Given the description of an element on the screen output the (x, y) to click on. 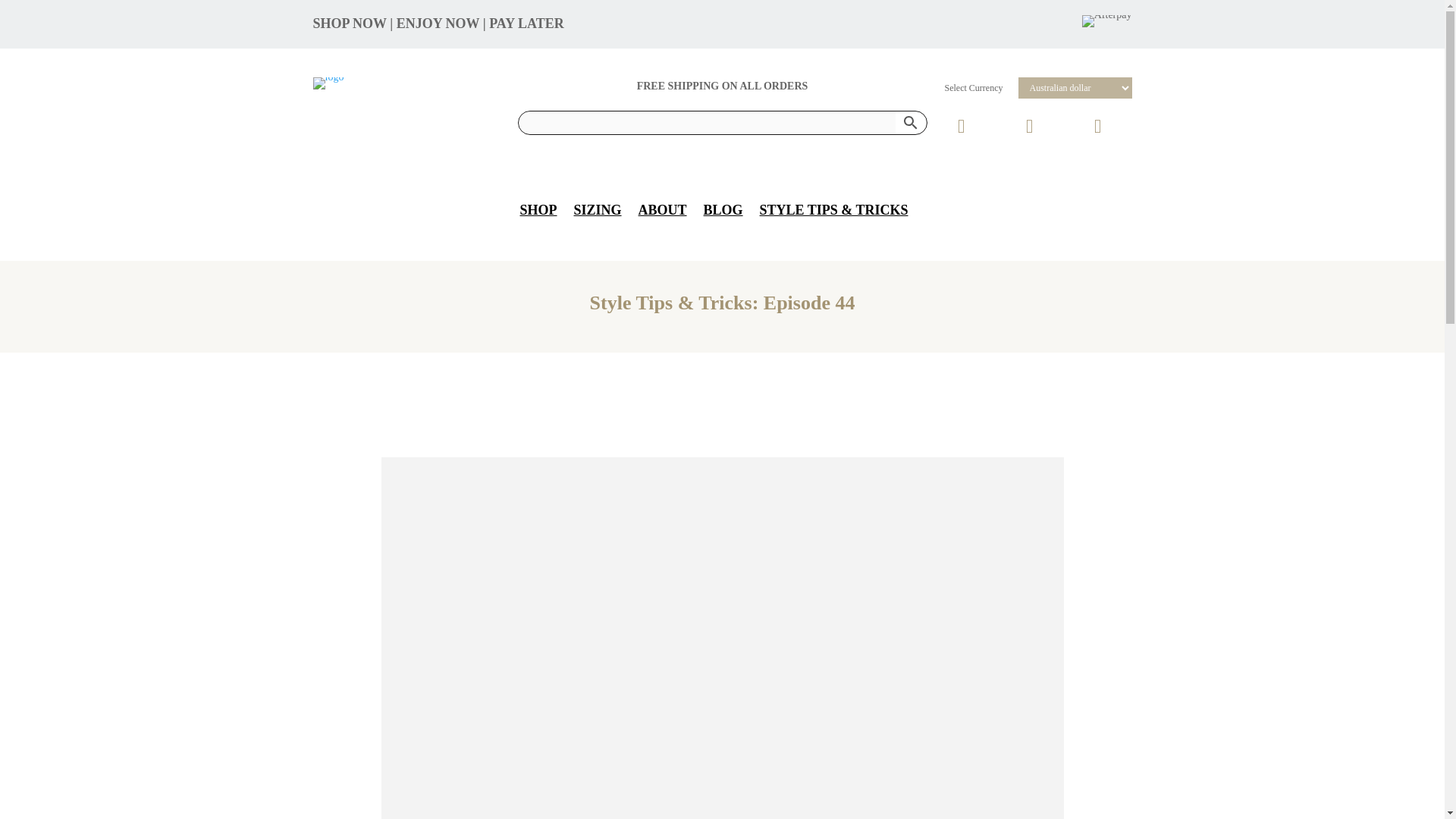
SIZING (597, 209)
Afterpay (1106, 21)
ABOUT (663, 209)
SHOP (538, 209)
BLOG (722, 209)
